Given the description of an element on the screen output the (x, y) to click on. 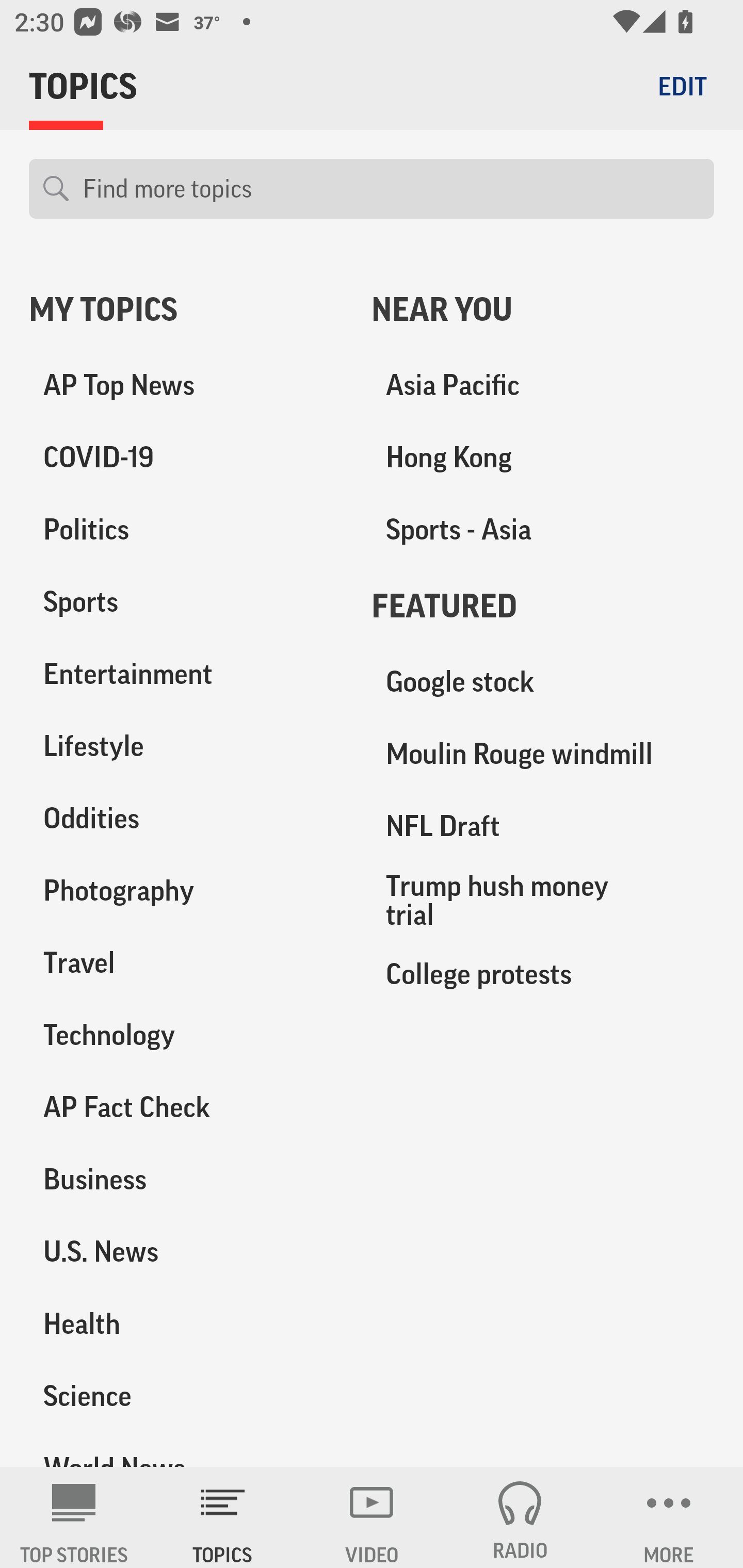
EDIT (682, 86)
Find more topics (391, 188)
AP Top News (185, 385)
Asia Pacific (542, 385)
COVID-19 (185, 457)
Hong Kong (542, 457)
Politics (185, 529)
Sports - Asia (542, 529)
Sports (185, 602)
Entertainment (185, 674)
Google stock (542, 682)
Lifestyle (185, 746)
Moulin Rouge windmill (542, 754)
Oddities (185, 818)
NFL Draft (542, 826)
Photography (185, 890)
Trump hush money trial (542, 899)
Travel (185, 962)
College protests (542, 973)
Technology (185, 1034)
AP Fact Check (185, 1106)
Business (185, 1179)
U.S. News (185, 1251)
Health (185, 1323)
Science (185, 1395)
AP News TOP STORIES (74, 1517)
TOPICS (222, 1517)
VIDEO (371, 1517)
RADIO (519, 1517)
MORE (668, 1517)
